Given the description of an element on the screen output the (x, y) to click on. 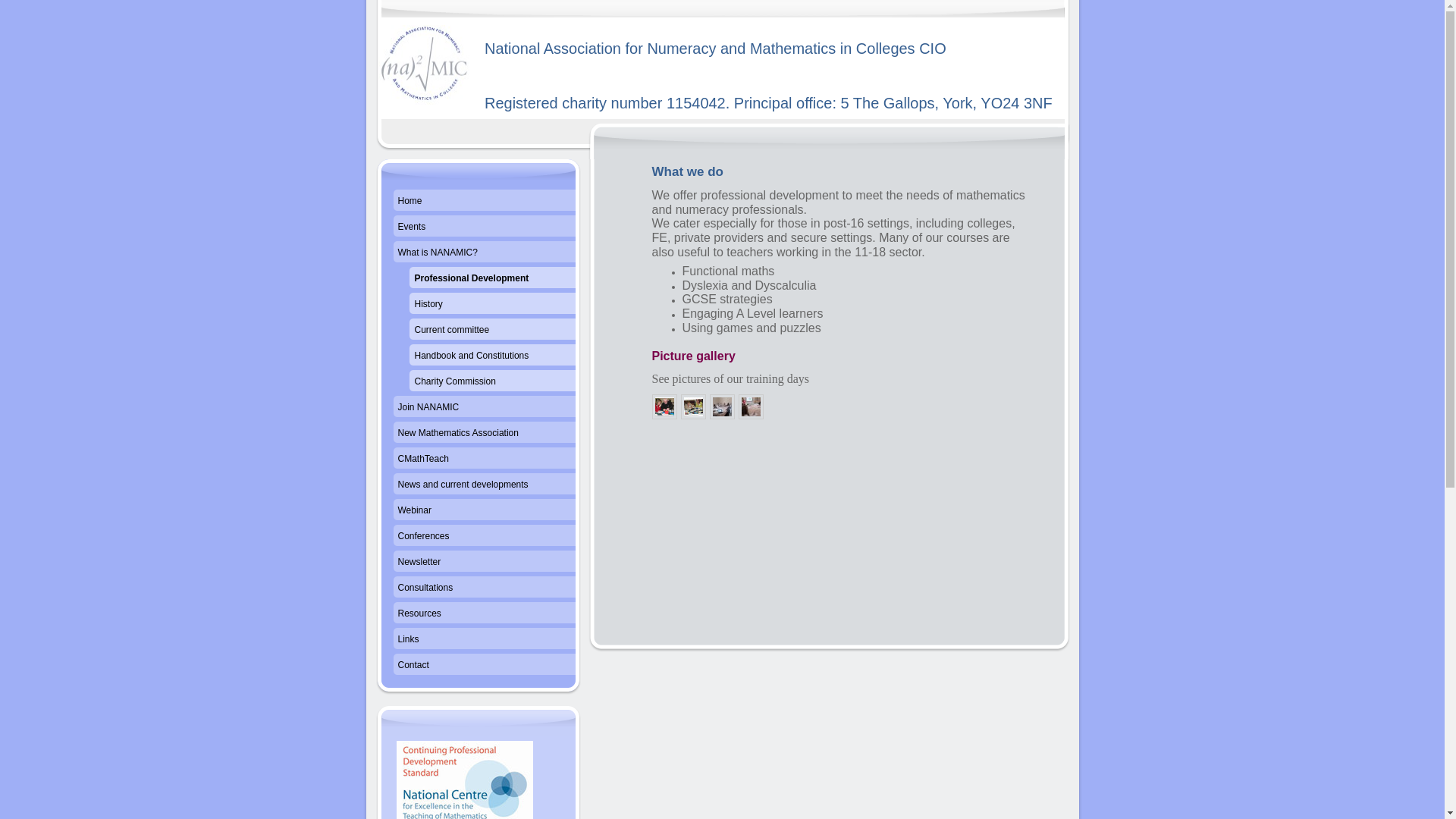
Resources (484, 614)
Consultations (484, 588)
What is NANAMIC? (484, 253)
Home (484, 202)
CMathTeach (484, 460)
Handbook and Constitutions (484, 356)
Professional Development (484, 279)
History (484, 305)
Webinar (484, 511)
News and current developments (484, 485)
Events (484, 227)
Conferences (484, 537)
Newsletter (484, 563)
Join NANAMIC (484, 408)
